Given the description of an element on the screen output the (x, y) to click on. 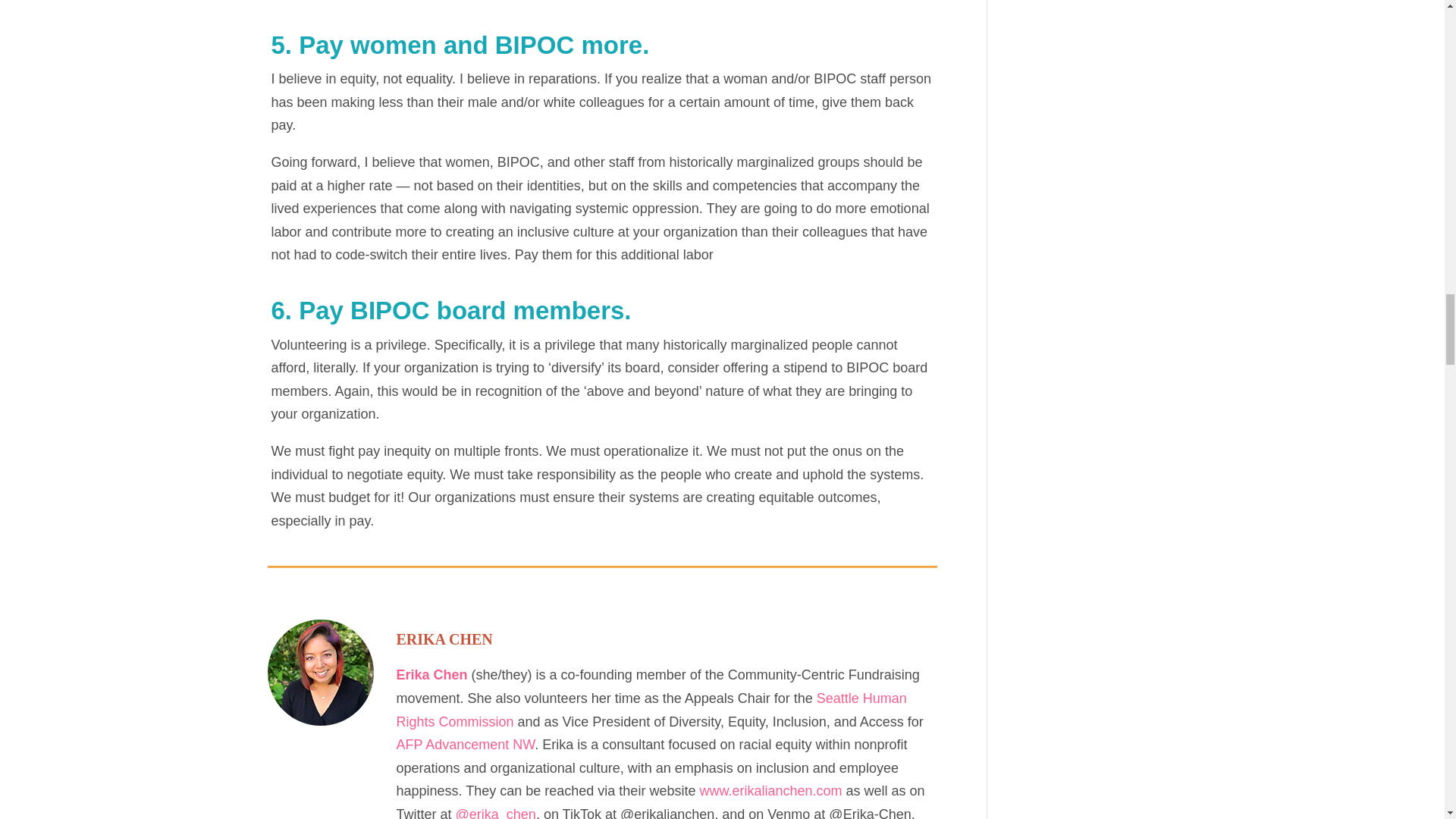
Erika Chen (431, 674)
Seattle Human Rights Commission (650, 710)
www.erikalianchen.com (769, 790)
AFP Advancement NW (465, 744)
